Given the description of an element on the screen output the (x, y) to click on. 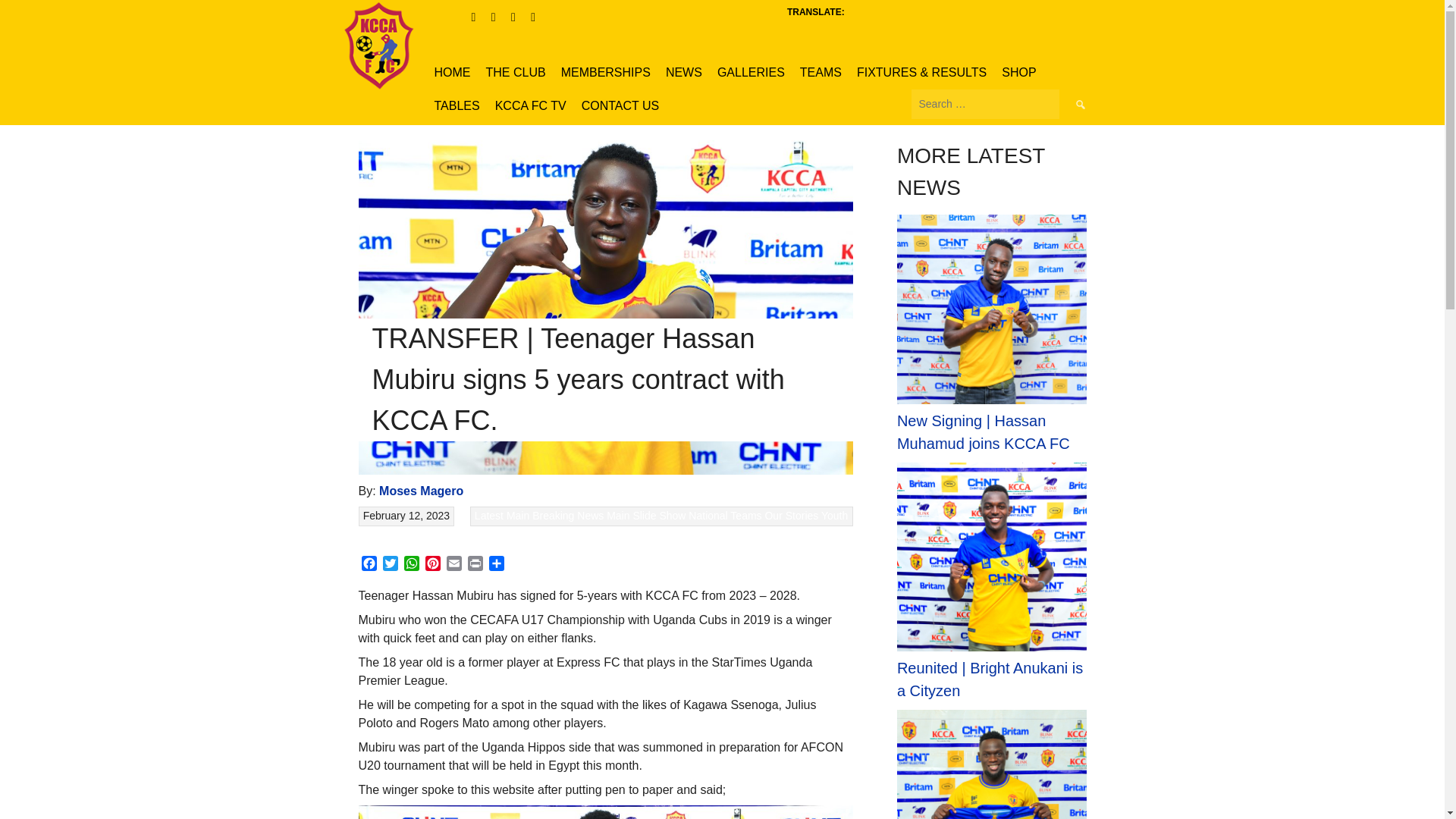
Moses Magero (420, 490)
THE CLUB (515, 72)
CONTACT US (619, 105)
Pinterest (432, 565)
SHOP (1018, 72)
MEMBERSHIPS (605, 72)
TABLES (456, 105)
WhatsApp (411, 565)
Email (453, 565)
TEAMS (820, 72)
Facebook (368, 565)
Search (1079, 103)
HOME (451, 72)
NEWS (684, 72)
Print (474, 565)
